Given the description of an element on the screen output the (x, y) to click on. 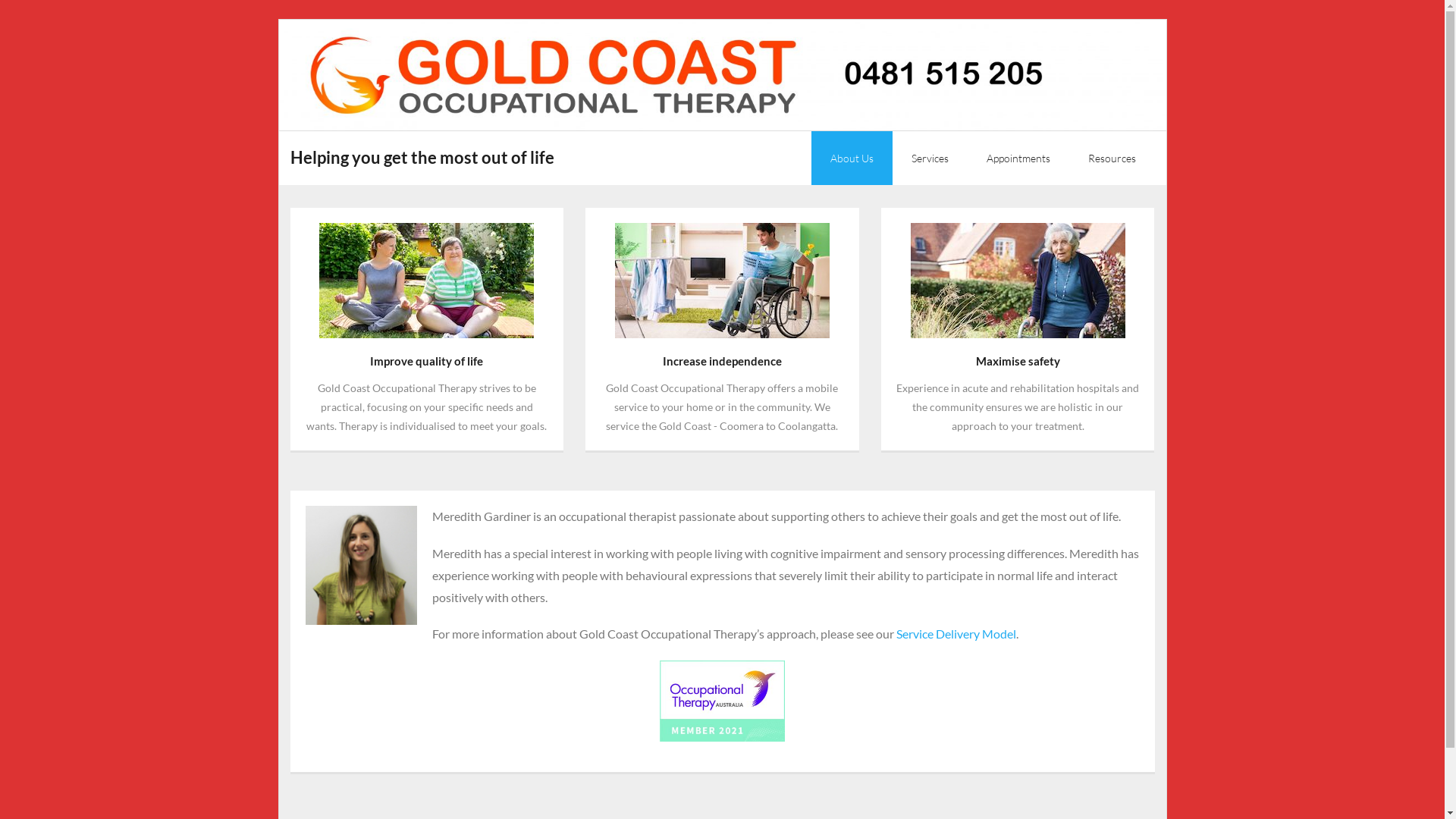
Appointments Element type: text (1018, 158)
Resources Element type: text (1111, 158)
About Us Element type: text (851, 158)
Service Delivery Model Element type: text (956, 633)
Helping you get the most out of life Element type: text (421, 157)
Services Element type: text (928, 158)
